Given the description of an element on the screen output the (x, y) to click on. 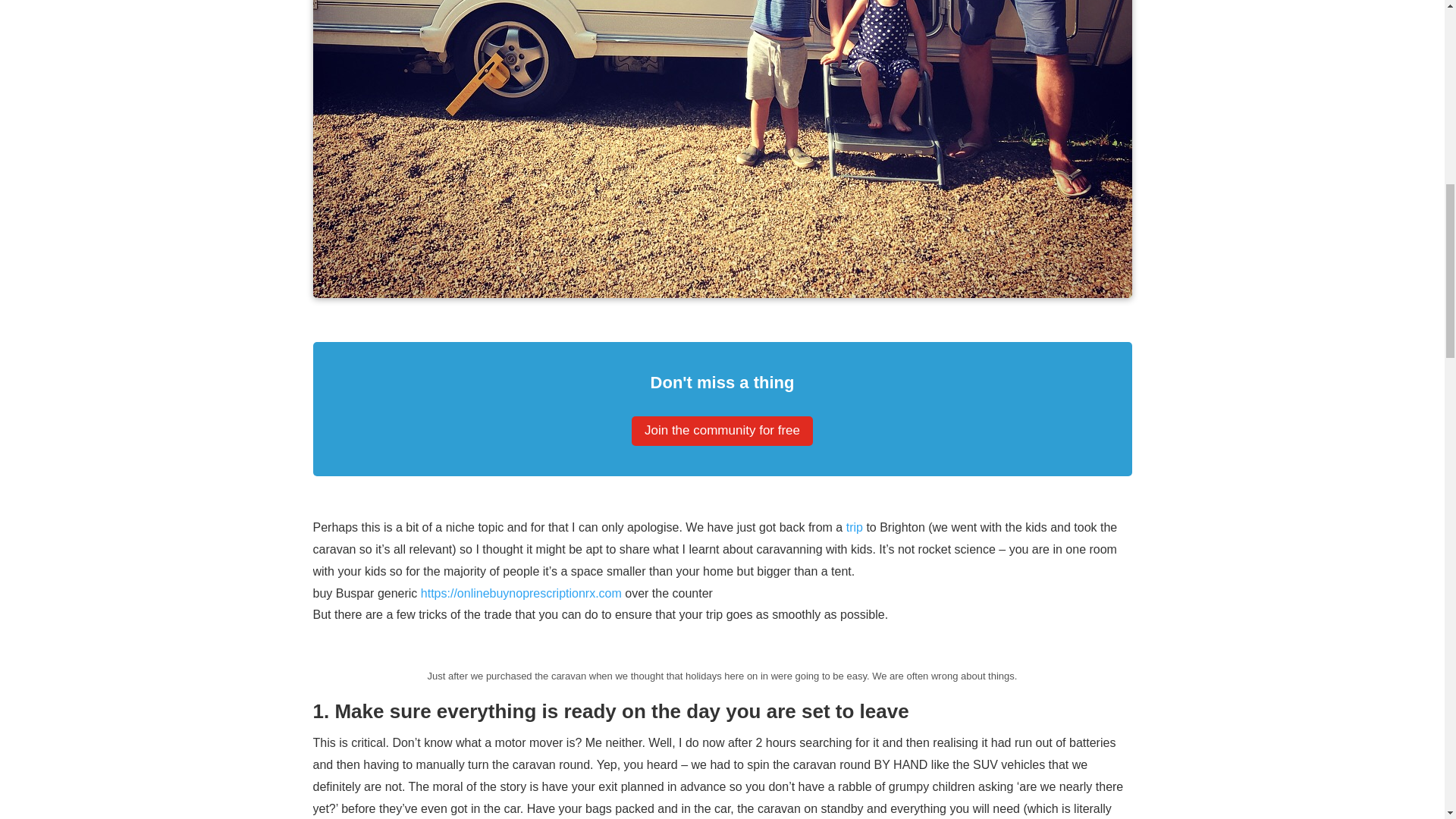
trip (854, 526)
Join the community for free (721, 430)
